Given the description of an element on the screen output the (x, y) to click on. 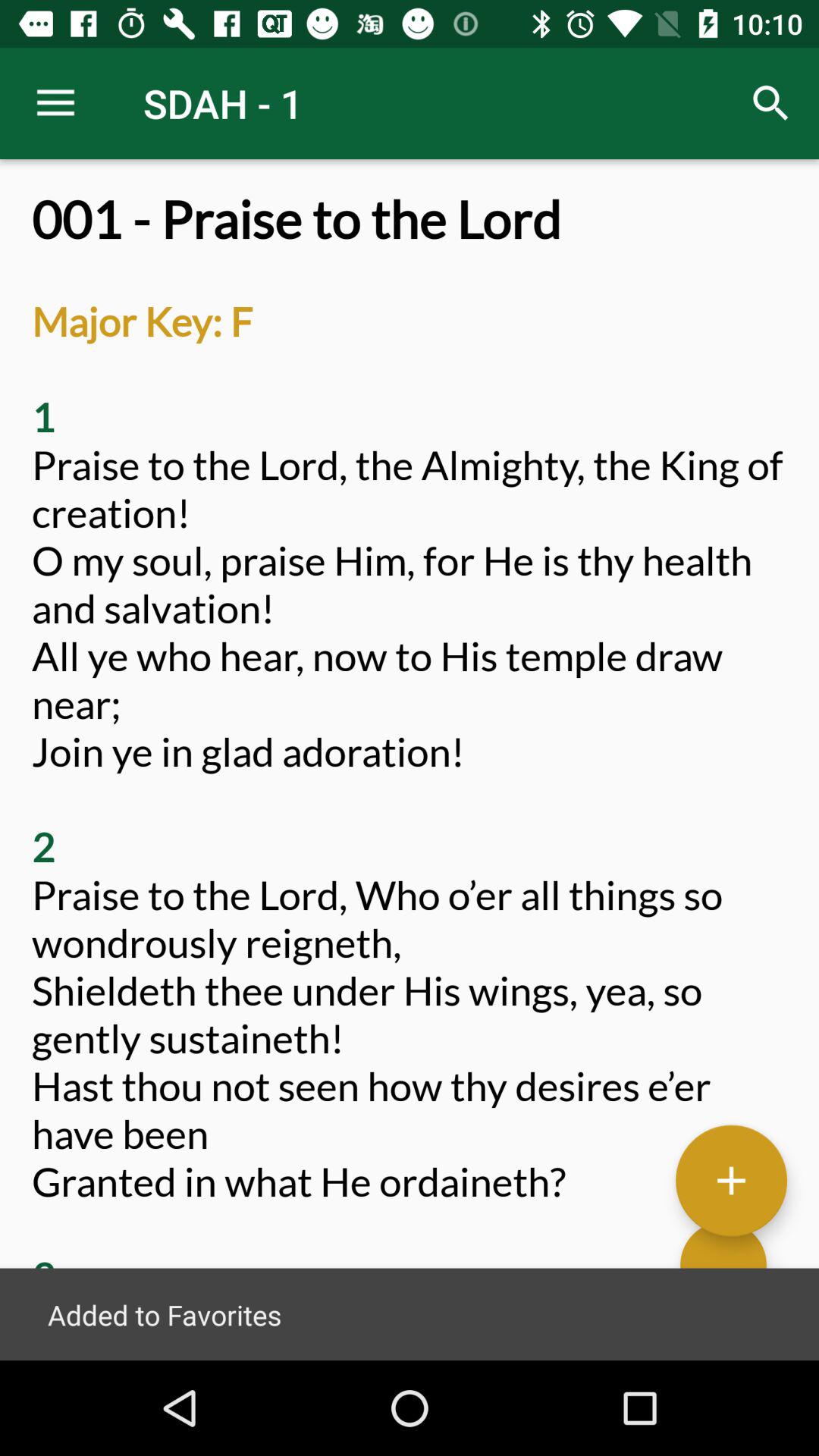
choose the icon above the 001 praise to (55, 103)
